Given the description of an element on the screen output the (x, y) to click on. 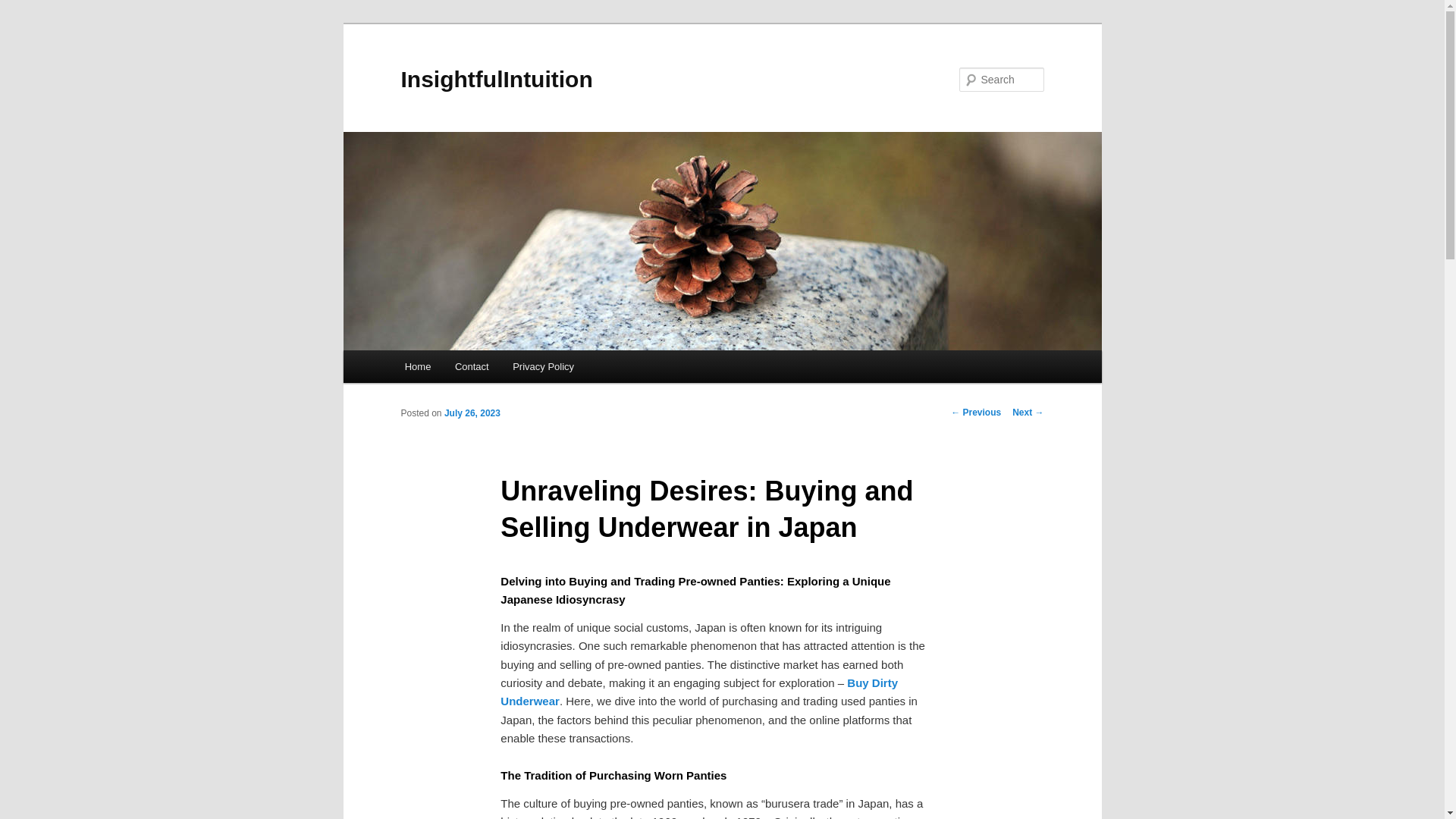
3:02 am (472, 412)
July 26, 2023 (472, 412)
Home (417, 366)
Privacy Policy (542, 366)
Buy Dirty Underwear (699, 691)
Contact (471, 366)
InsightfulIntuition (496, 78)
Search (24, 8)
